Given the description of an element on the screen output the (x, y) to click on. 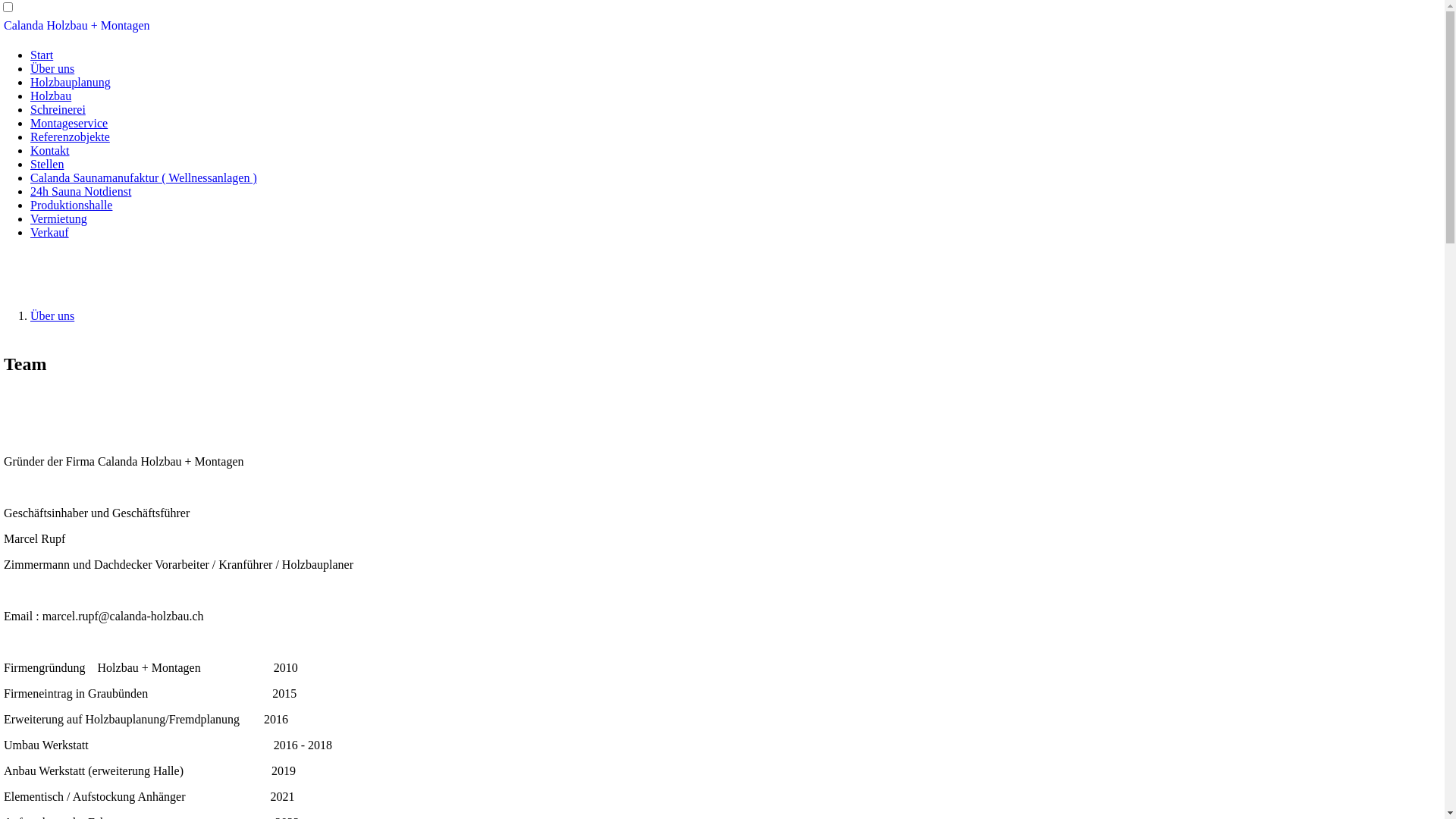
24h Sauna Notdienst Element type: text (80, 191)
Kontakt Element type: text (49, 150)
Schreinerei Element type: text (57, 109)
Stellen Element type: text (46, 163)
Calanda Saunamanufaktur ( Wellnessanlagen ) Element type: text (143, 177)
Montageservice Element type: text (68, 122)
Referenzobjekte Element type: text (69, 136)
Vermietung Element type: text (58, 218)
Holzbauplanung Element type: text (70, 81)
Start Element type: text (41, 54)
Calanda Holzbau + Montagen Element type: text (76, 24)
Verkauf Element type: text (49, 231)
Produktionshalle Element type: text (71, 204)
Holzbau Element type: text (50, 95)
